Given the description of an element on the screen output the (x, y) to click on. 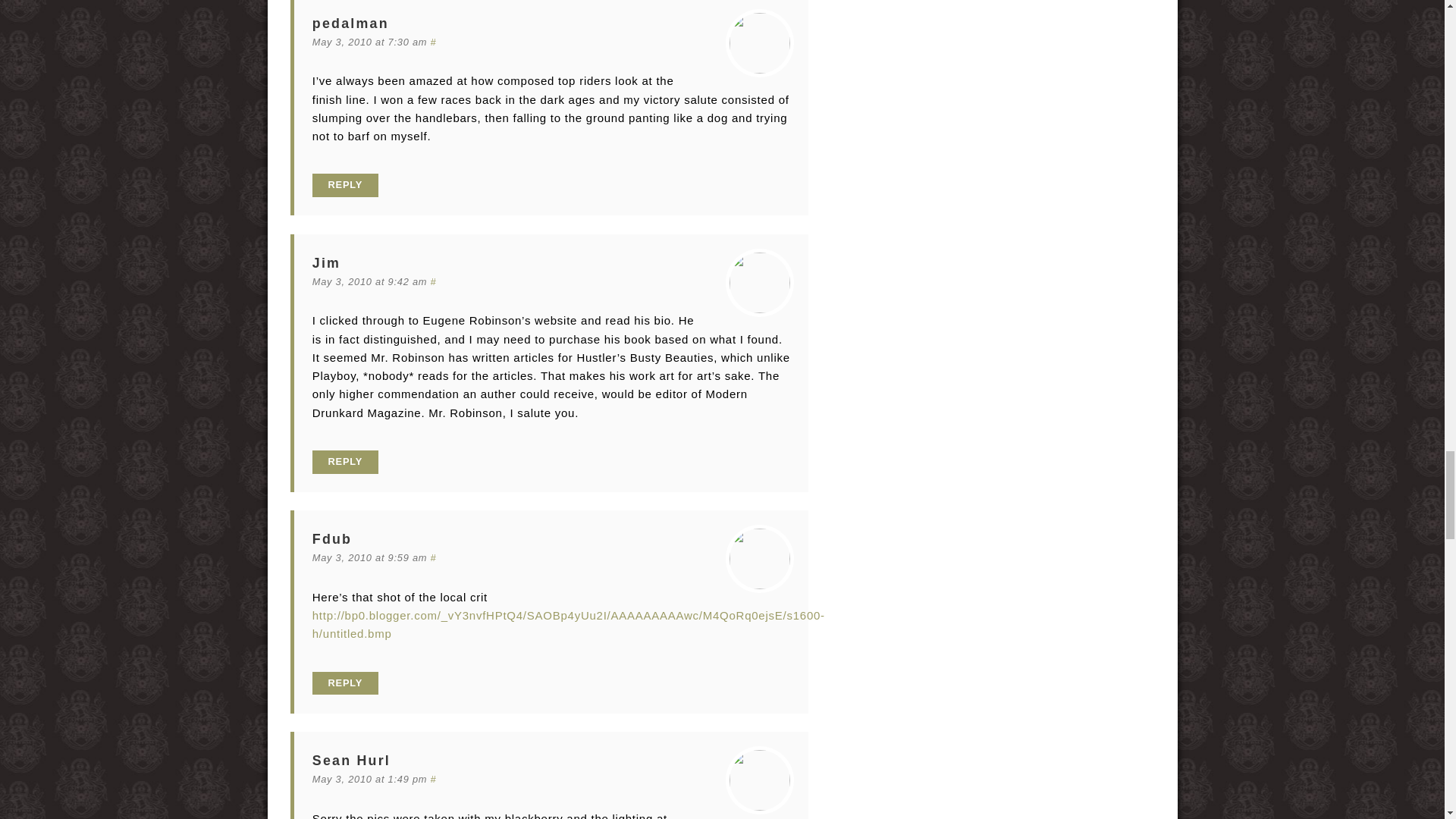
REPLY (345, 683)
REPLY (345, 185)
REPLY (345, 462)
